Given the description of an element on the screen output the (x, y) to click on. 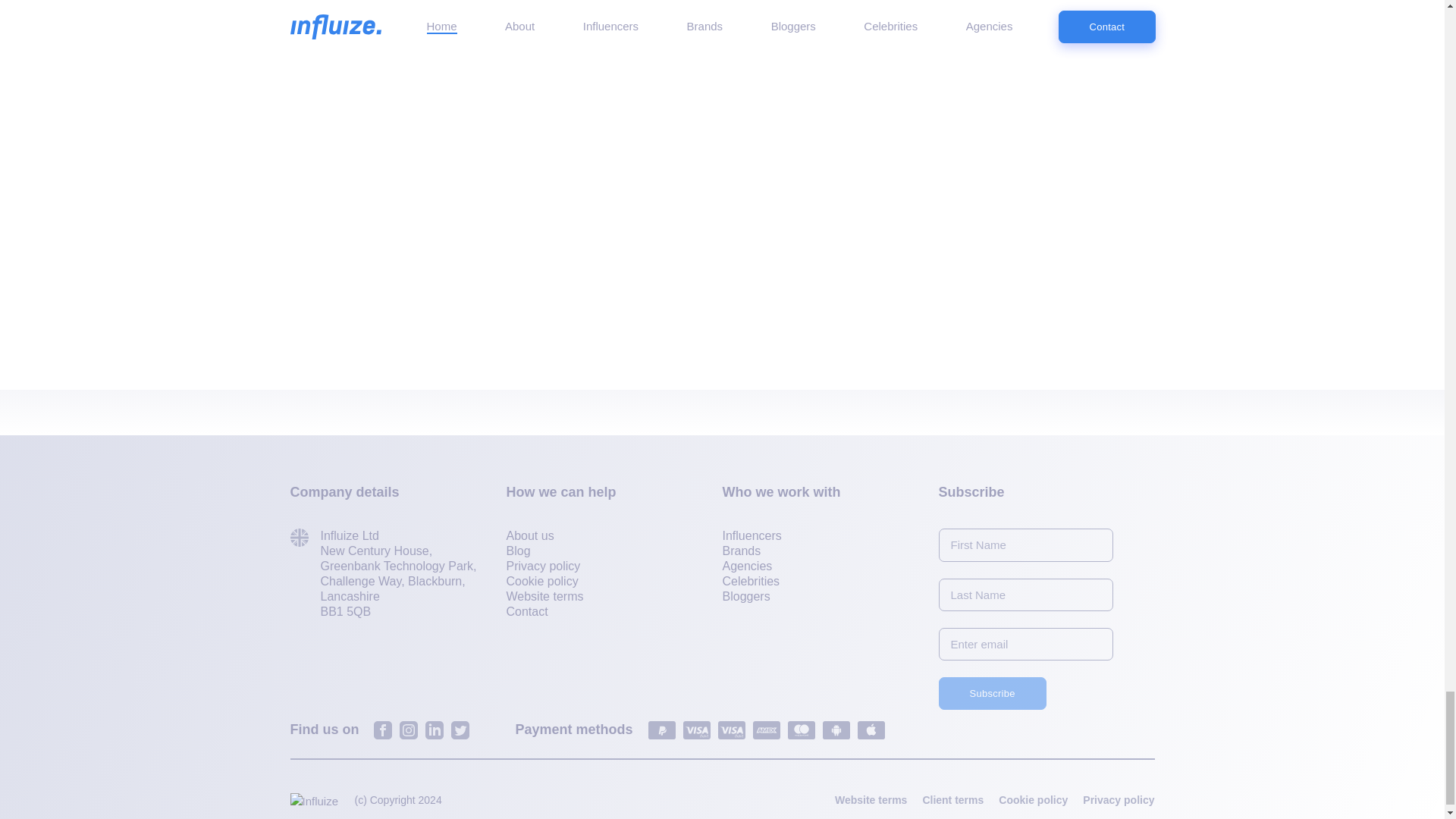
Website terms (544, 596)
Agencies (746, 566)
Brands (741, 551)
Bloggers (746, 596)
About us (530, 536)
Blog (518, 551)
Influencers (751, 536)
Linked In (434, 730)
Contact (527, 612)
Cookie policy (542, 581)
